Given the description of an element on the screen output the (x, y) to click on. 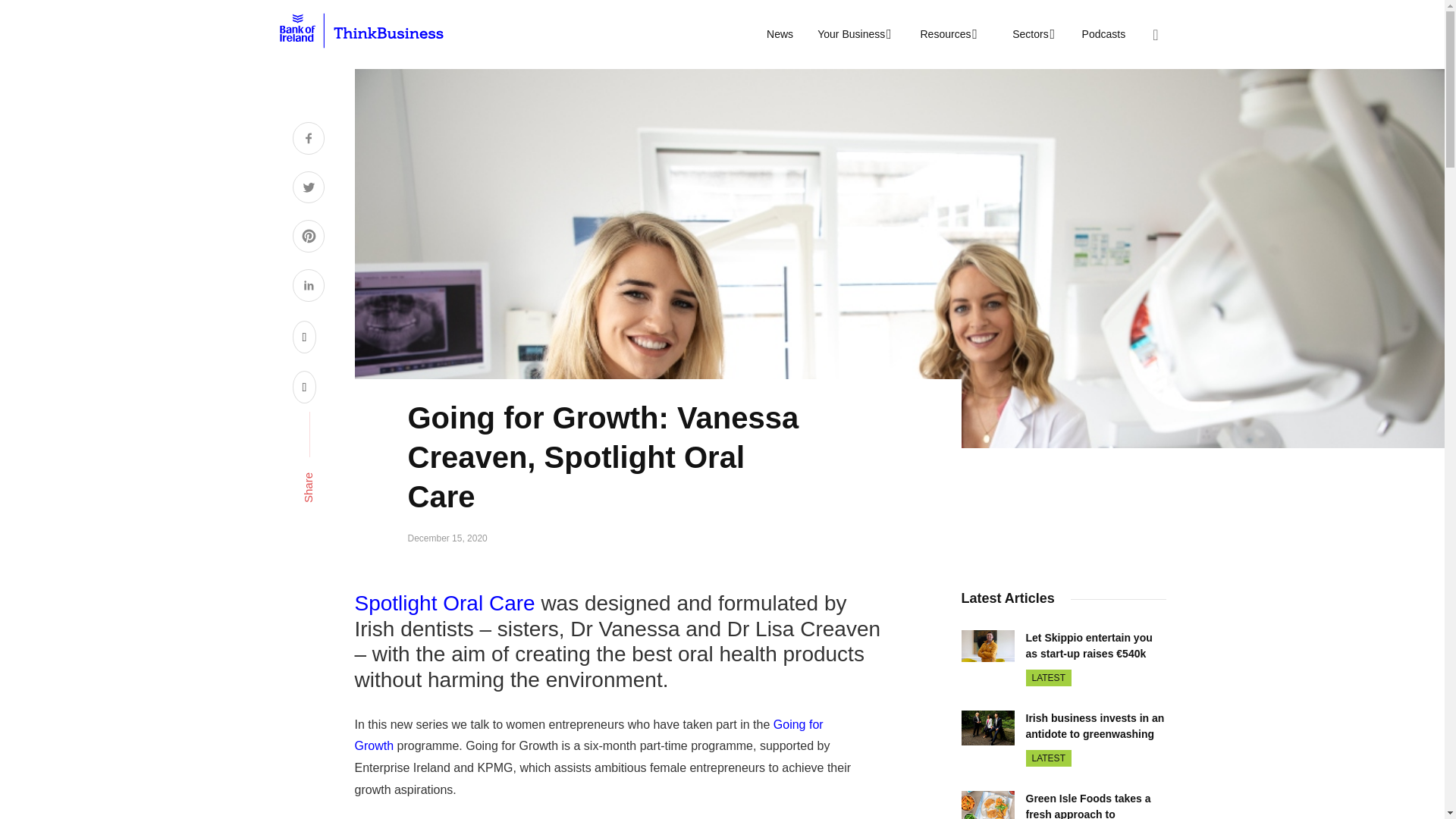
Resources (946, 34)
Share on Pinterest (308, 238)
Share on Reddit (304, 337)
Share on Linkedin (308, 287)
Your Business (852, 34)
Share via email (304, 387)
Share on Twitter (308, 189)
December 15, 2020 at 6:04 am (447, 538)
Share on Facebook (308, 140)
